Given the description of an element on the screen output the (x, y) to click on. 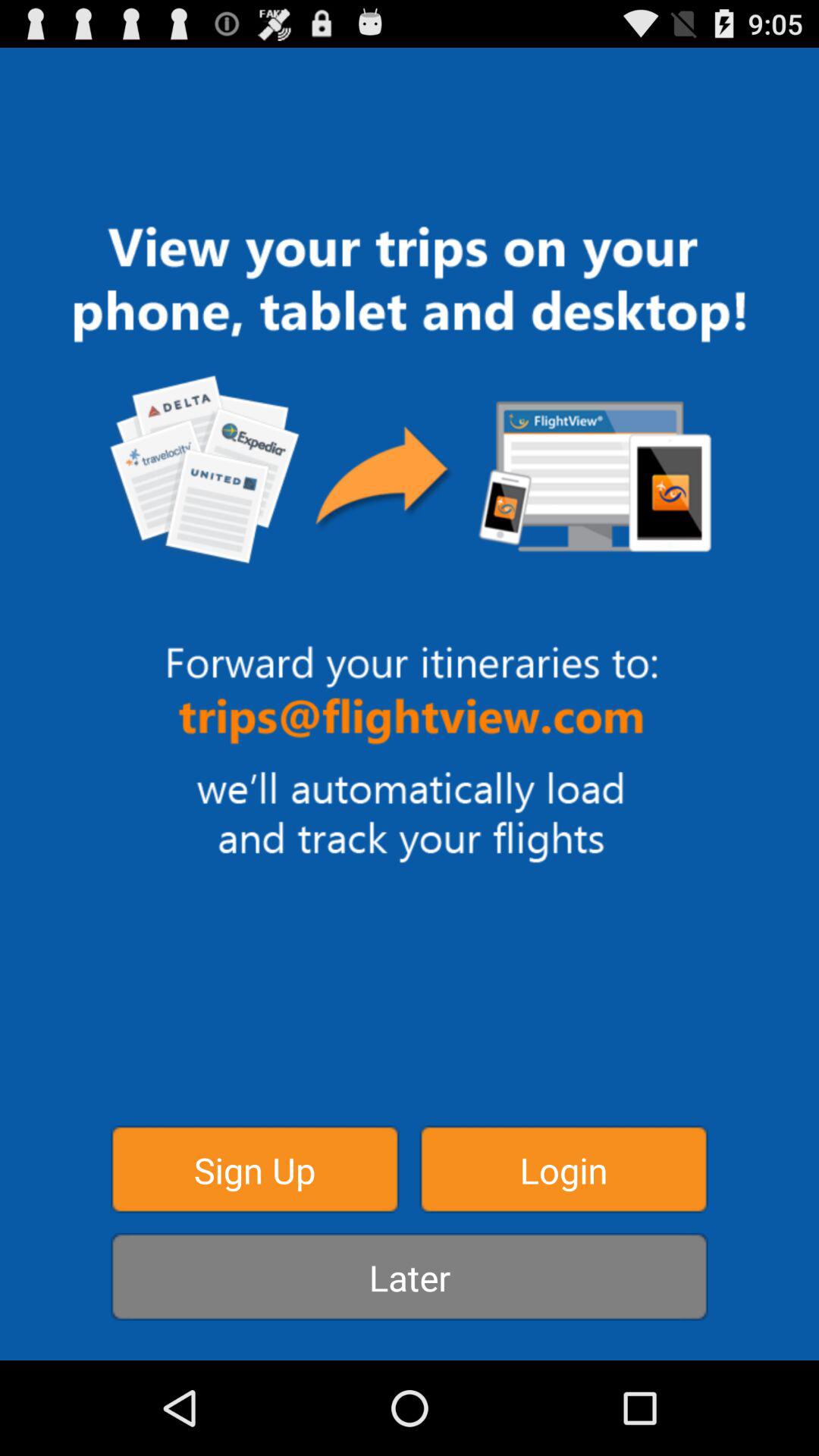
select sign up button (254, 1169)
